Given the description of an element on the screen output the (x, y) to click on. 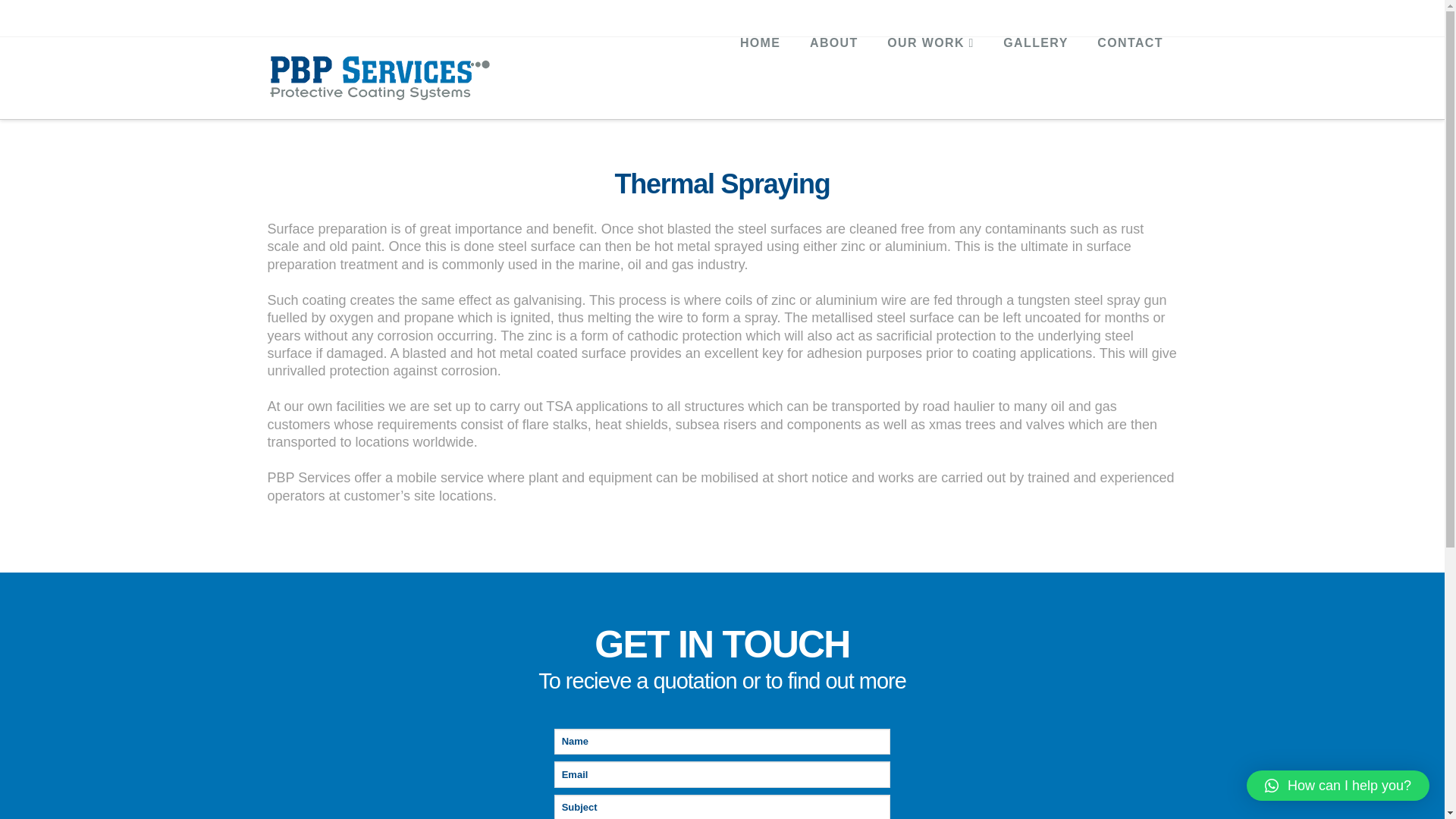
OUR WORK (930, 70)
HOME (759, 70)
CONTACT (1128, 70)
ABOUT (833, 70)
GALLERY (1034, 70)
